Given the description of an element on the screen output the (x, y) to click on. 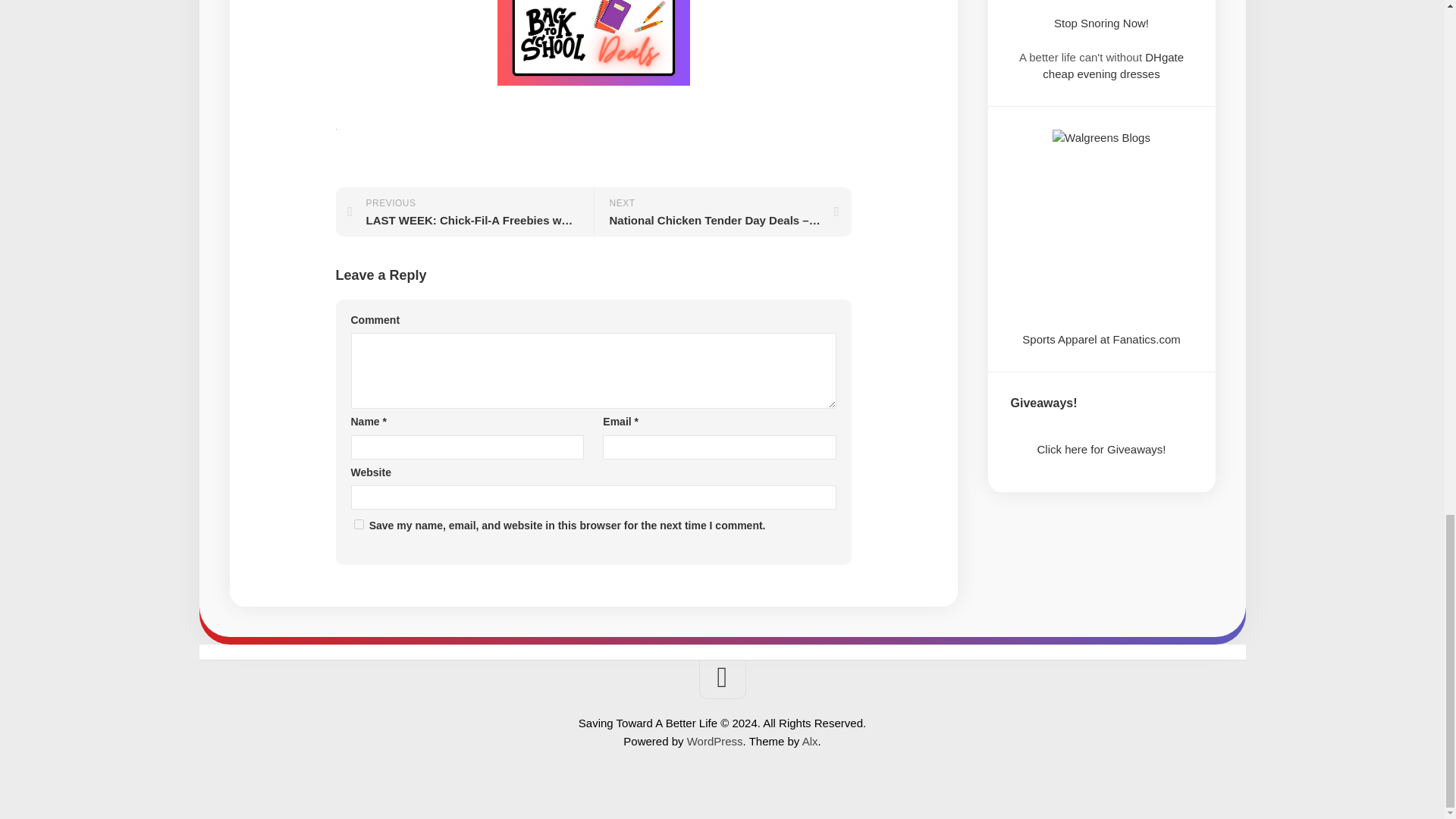
yes (357, 524)
